Given the description of an element on the screen output the (x, y) to click on. 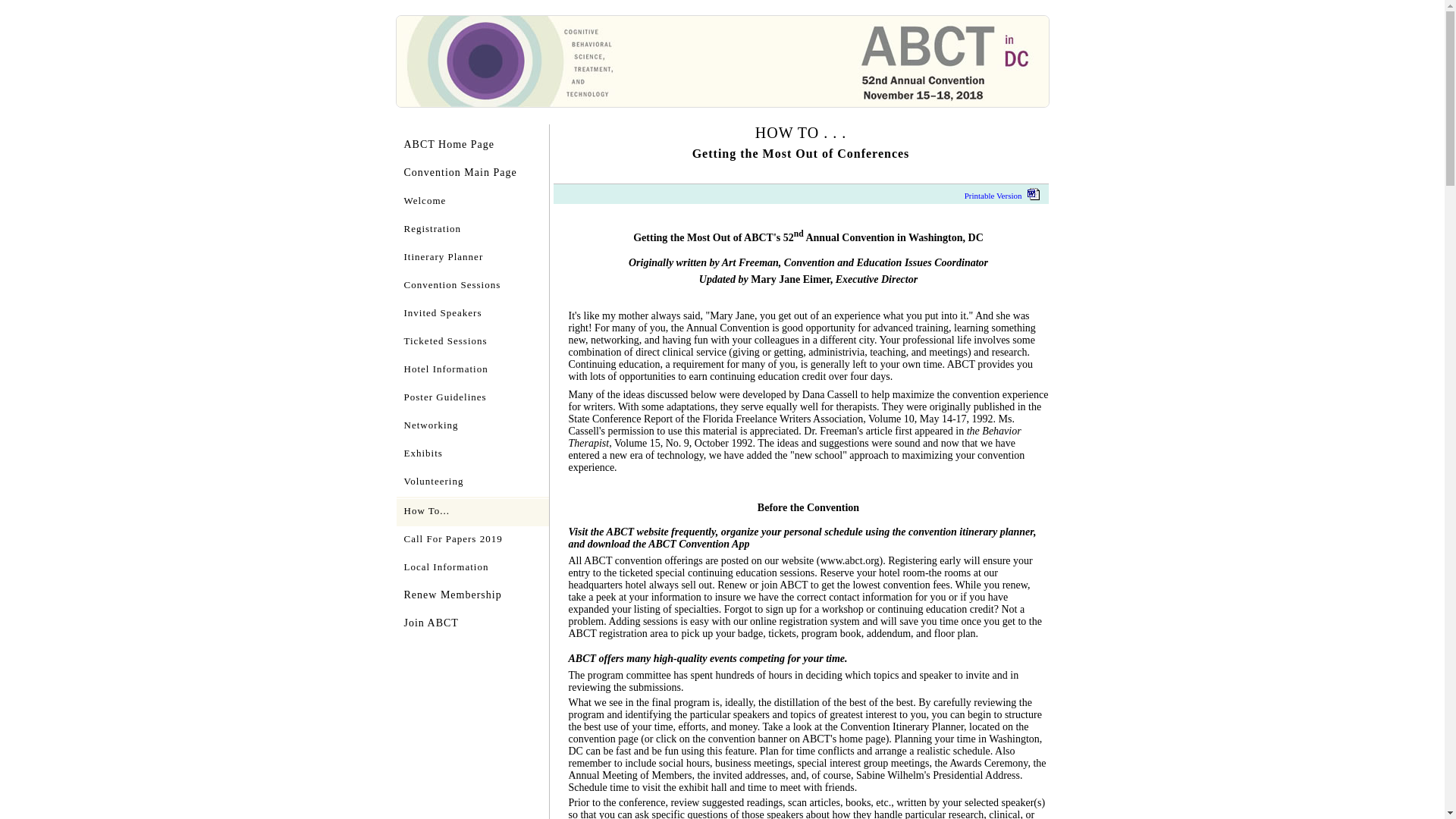
Itinerary Planner (472, 257)
Convention Sessions (472, 285)
Hotel Information (472, 370)
Welcome (472, 202)
Convention Main Page (472, 173)
Invited Speakers (472, 314)
ABCT Home Page (472, 145)
Printable Version (1004, 194)
Registration (472, 230)
Ticketed Sessions (472, 342)
